Given the description of an element on the screen output the (x, y) to click on. 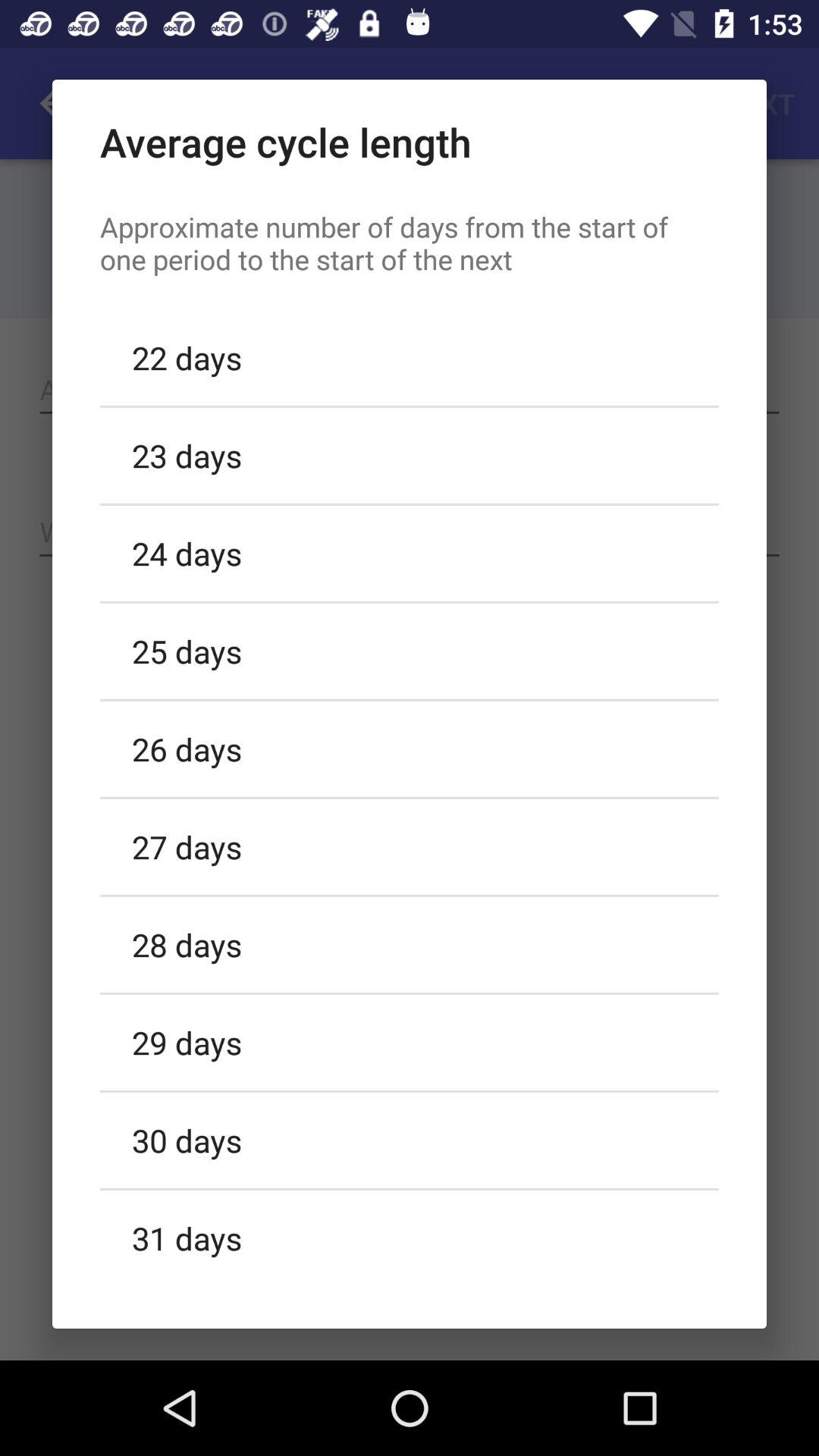
flip until the 28 days icon (409, 944)
